Given the description of an element on the screen output the (x, y) to click on. 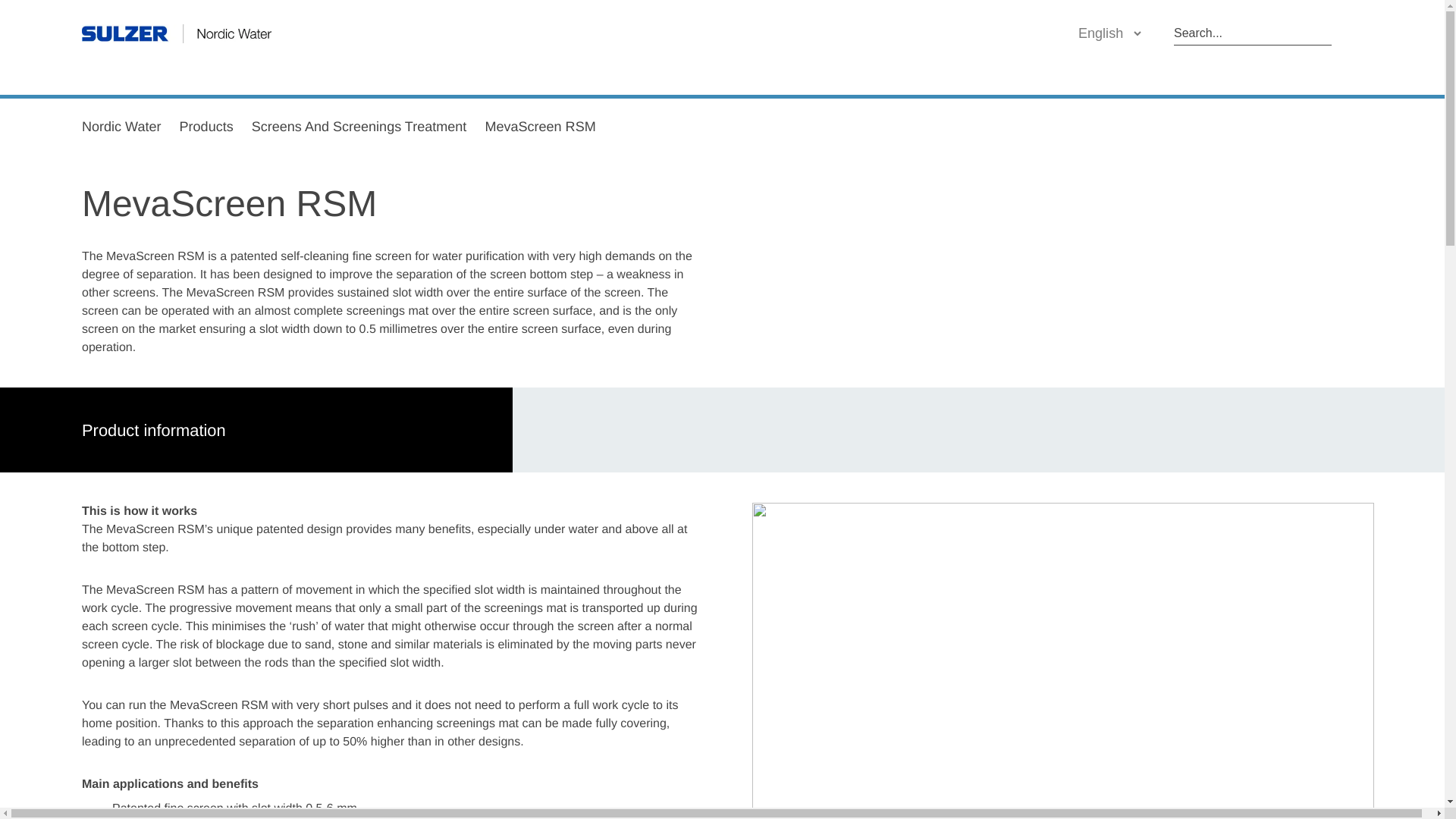
MevaScreen RSM (539, 126)
Products (205, 126)
Screens And Screenings Treatment (359, 126)
Nordic Water (121, 126)
